Given the description of an element on the screen output the (x, y) to click on. 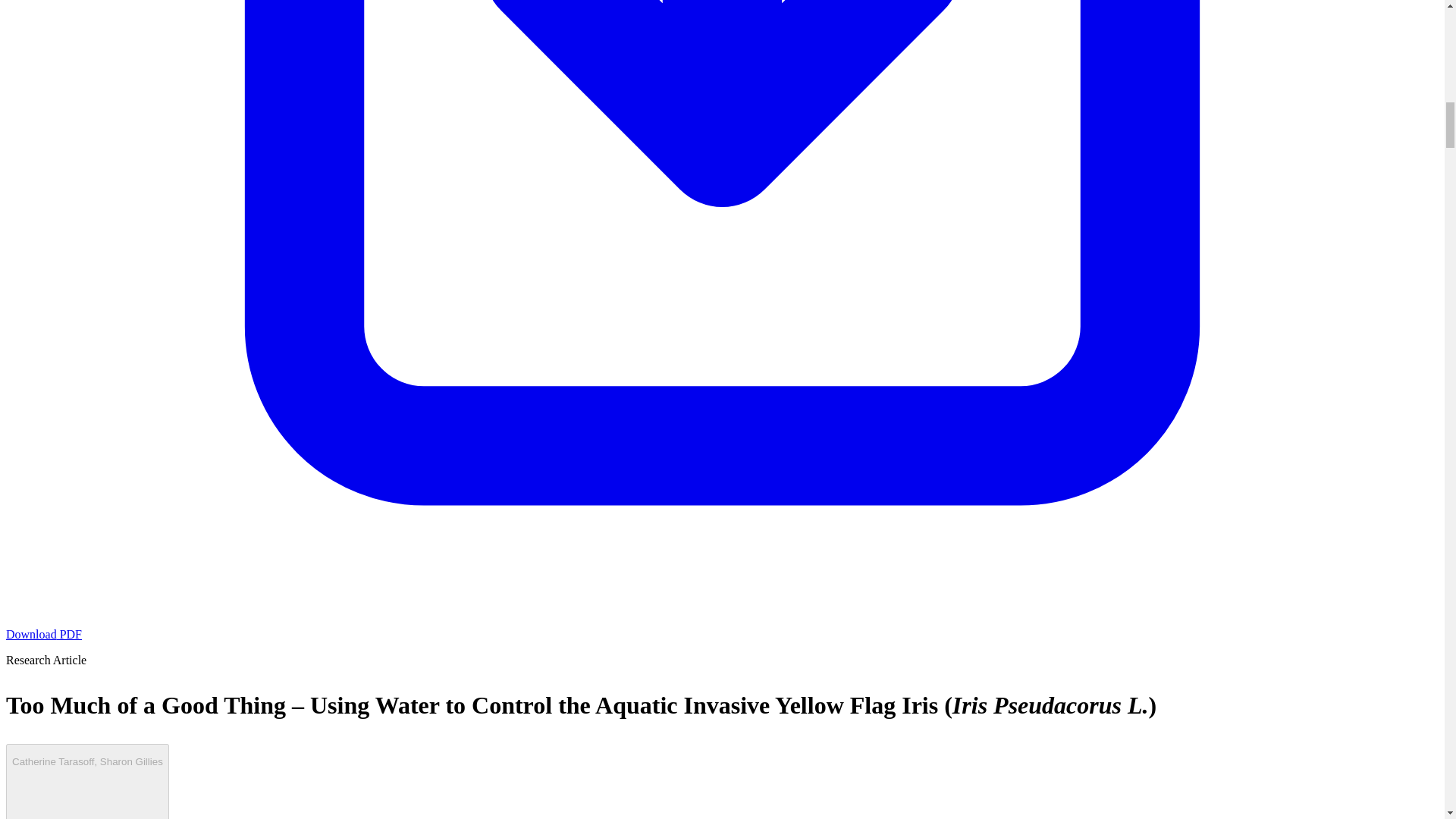
Catherine Tarasoff, Sharon Gillies (86, 781)
